Given the description of an element on the screen output the (x, y) to click on. 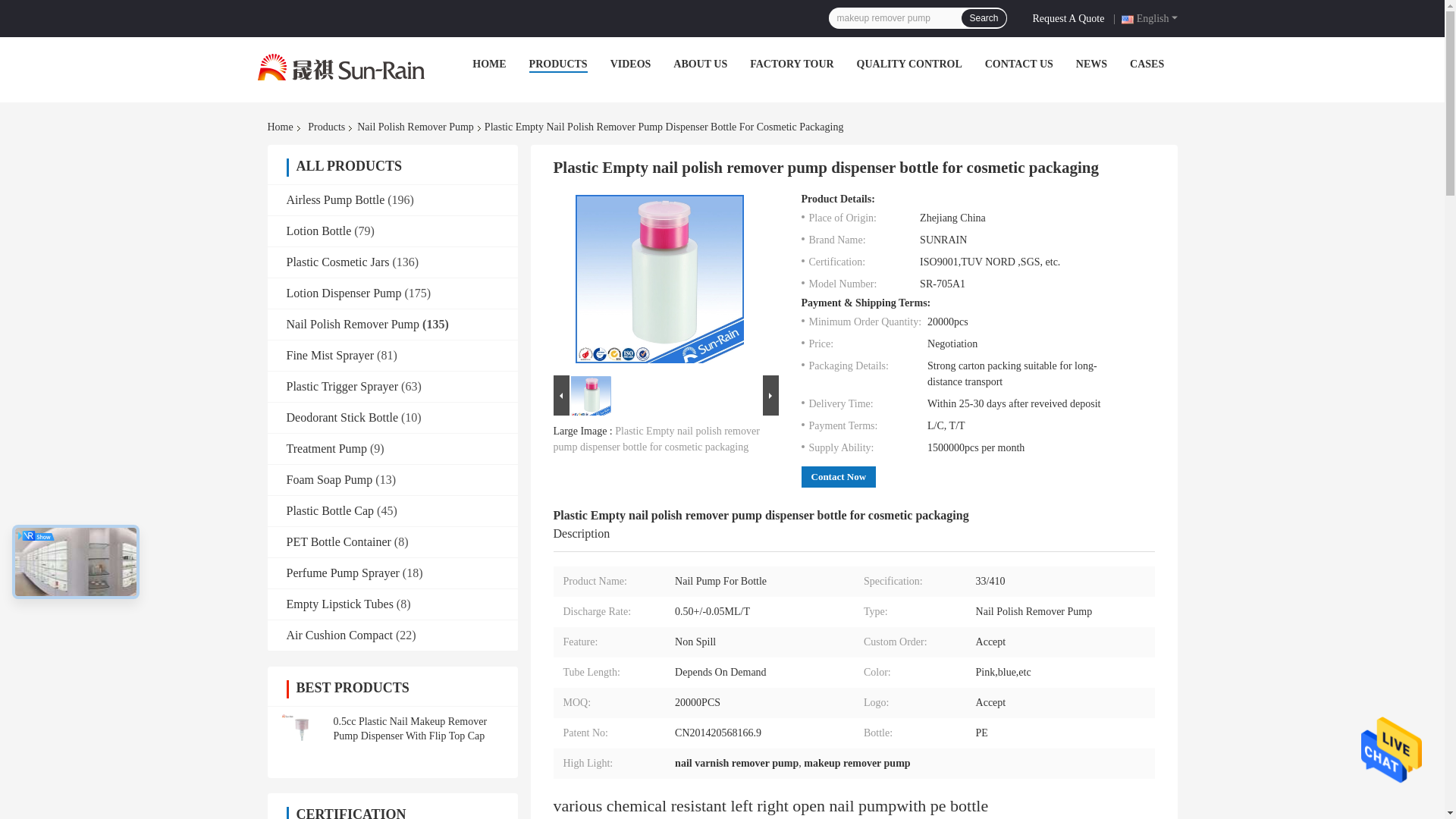
QUALITY CONTROL (909, 63)
NEWS (1090, 63)
VIDEOS (630, 63)
ABOUT US (699, 63)
Request A Quote (1071, 17)
Home (282, 127)
PRODUCTS (558, 63)
Lotion Bottle (319, 230)
Search (983, 18)
HOME (488, 63)
